Given the description of an element on the screen output the (x, y) to click on. 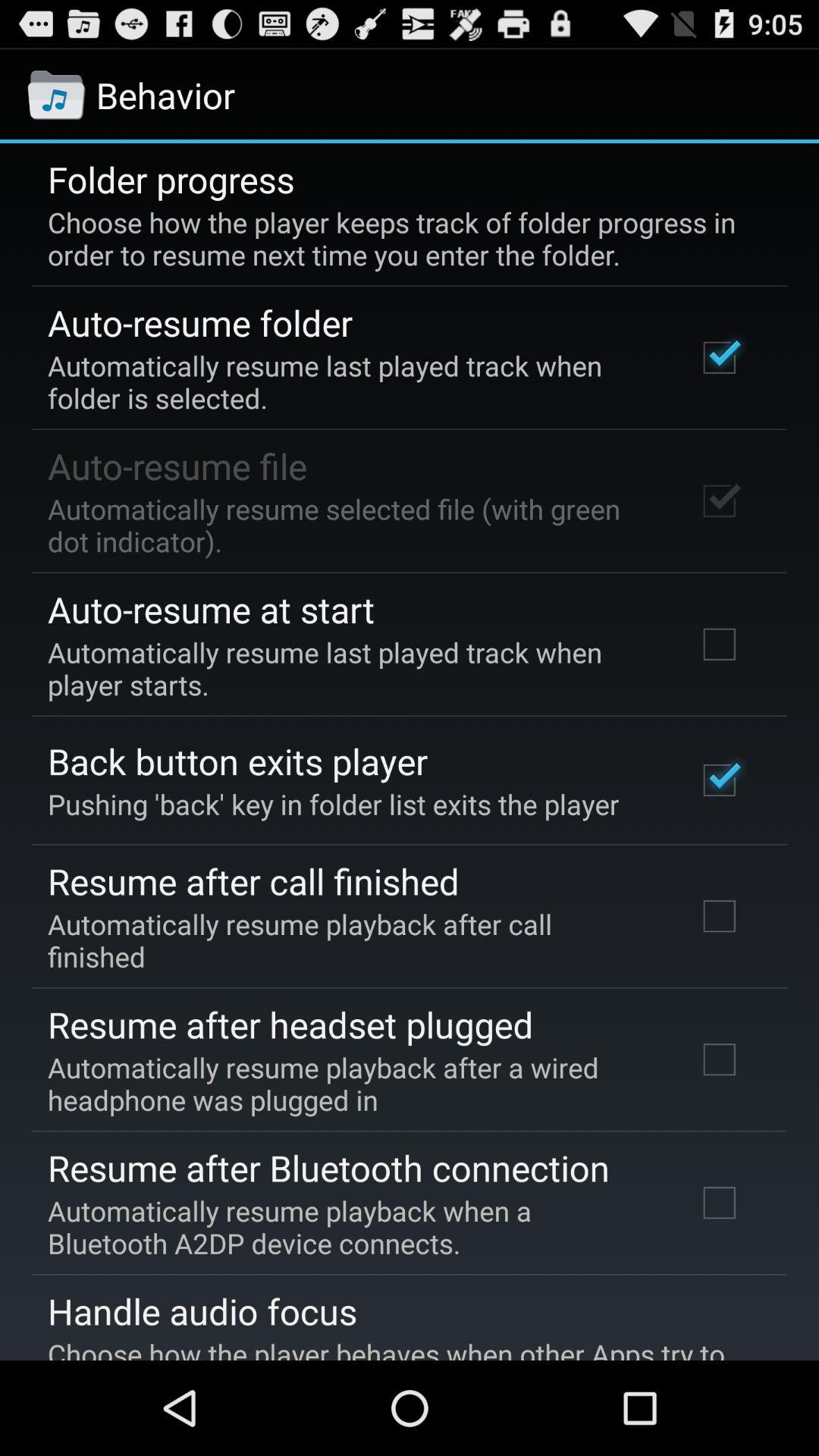
tap the icon below the back button exits (333, 803)
